Given the description of an element on the screen output the (x, y) to click on. 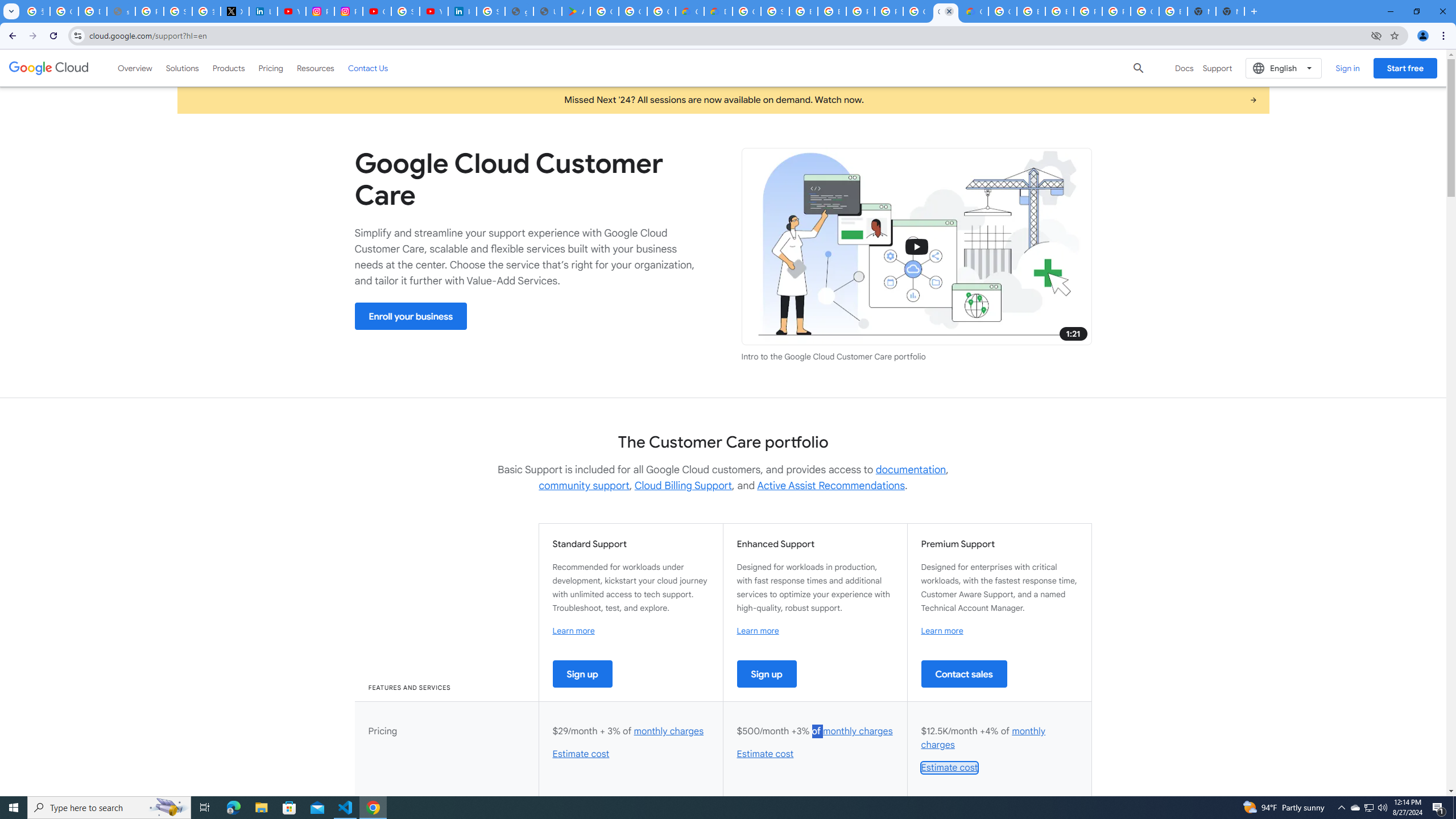
documentation (910, 469)
Resources (314, 67)
Browse Chrome as a guest - Computer - Google Chrome Help (803, 11)
Google Cloud Platform (1144, 11)
support.google.com - Network error (120, 11)
